Given the description of an element on the screen output the (x, y) to click on. 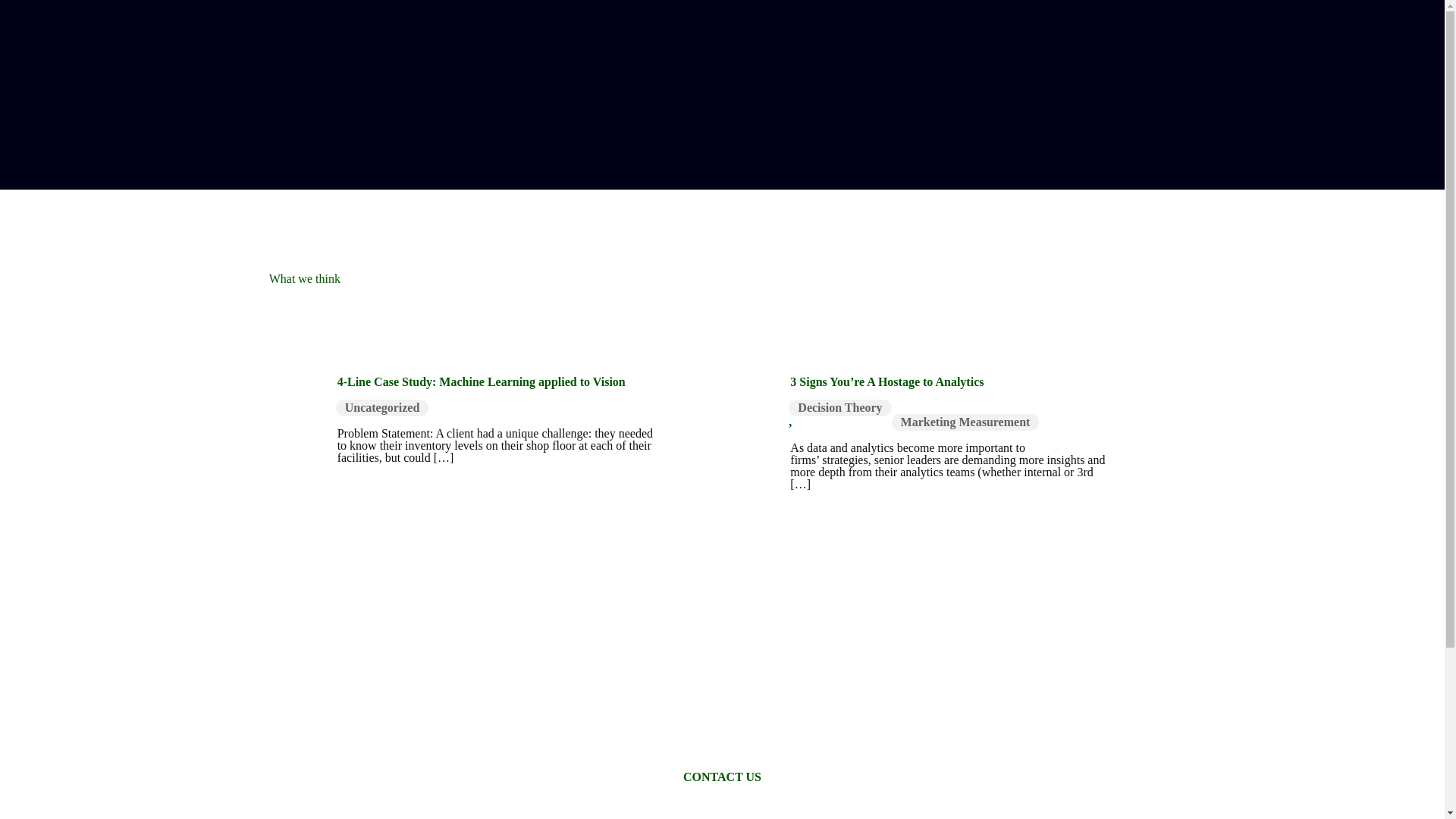
Decision Theory (840, 407)
CONTACT US (722, 777)
Uncategorized (382, 407)
Marketing Measurement (965, 422)
4-Line Case Study: Machine Learning applied to Vision (481, 381)
